Given the description of an element on the screen output the (x, y) to click on. 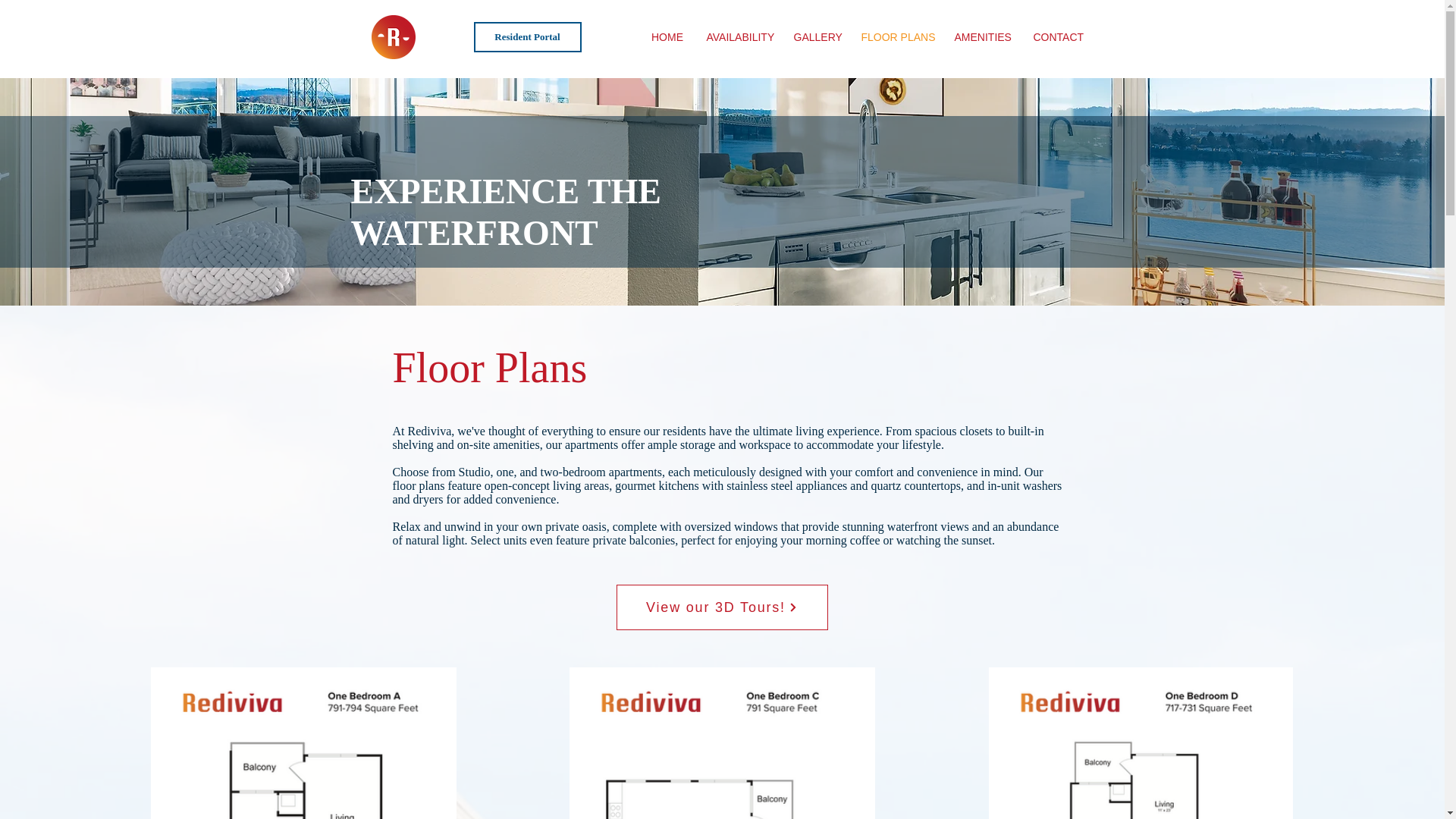
Resident Portal (526, 37)
GALLERY (816, 36)
CONTACT (1058, 36)
AMENITIES (982, 36)
FLOOR PLANS (895, 36)
View our 3D Tours! (721, 606)
AVAILABILITY (737, 36)
HOME (667, 36)
